Given the description of an element on the screen output the (x, y) to click on. 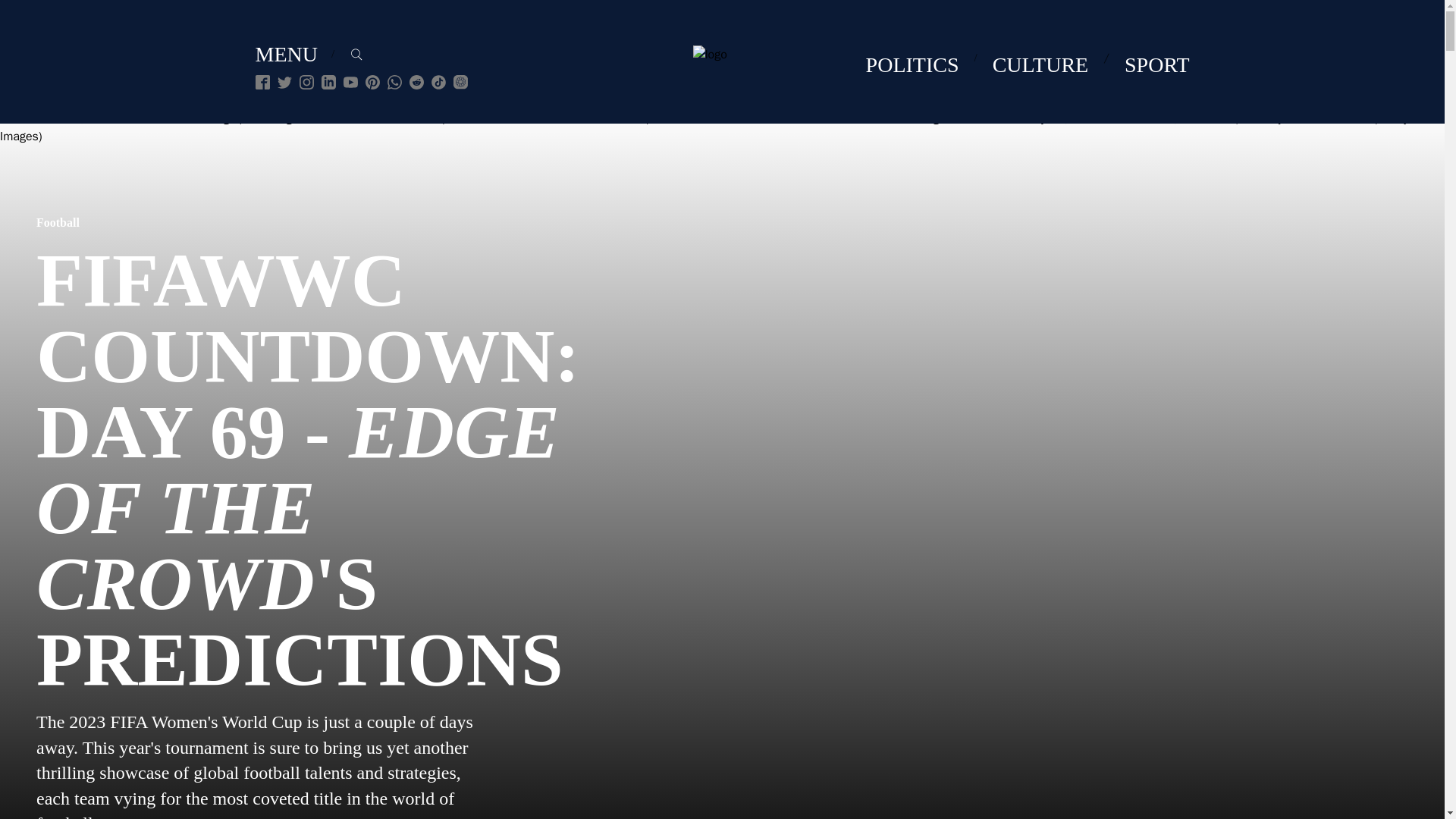
POLITICS (912, 64)
Football (58, 222)
CULTURE (1040, 64)
SPORT (1156, 64)
MENU (285, 53)
